Given the description of an element on the screen output the (x, y) to click on. 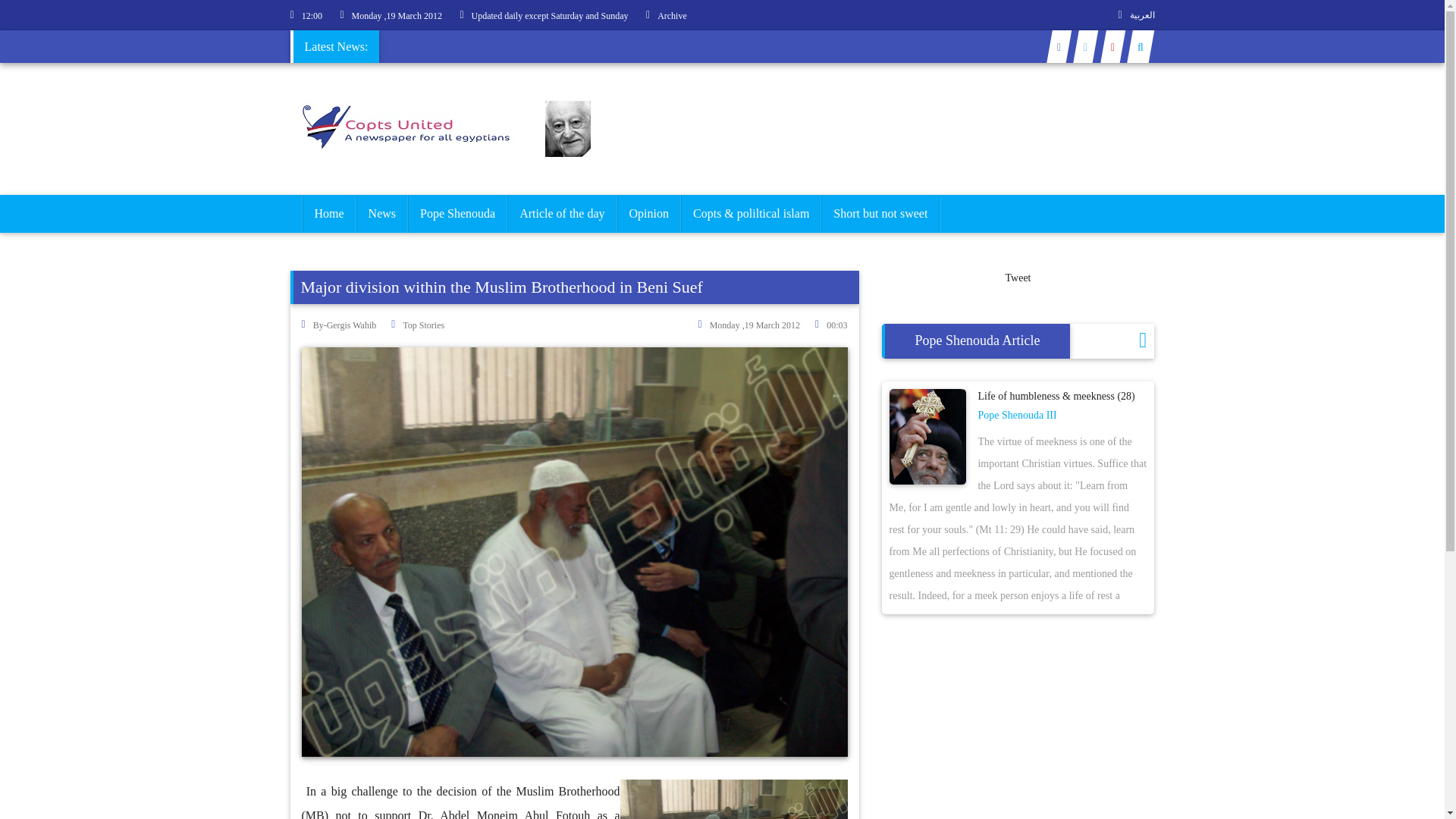
Article of the day (561, 213)
News (381, 213)
Short but not sweet (880, 213)
Opinion (648, 213)
Tweet (1017, 278)
Home (328, 213)
Pope Shenouda (457, 213)
